Given the description of an element on the screen output the (x, y) to click on. 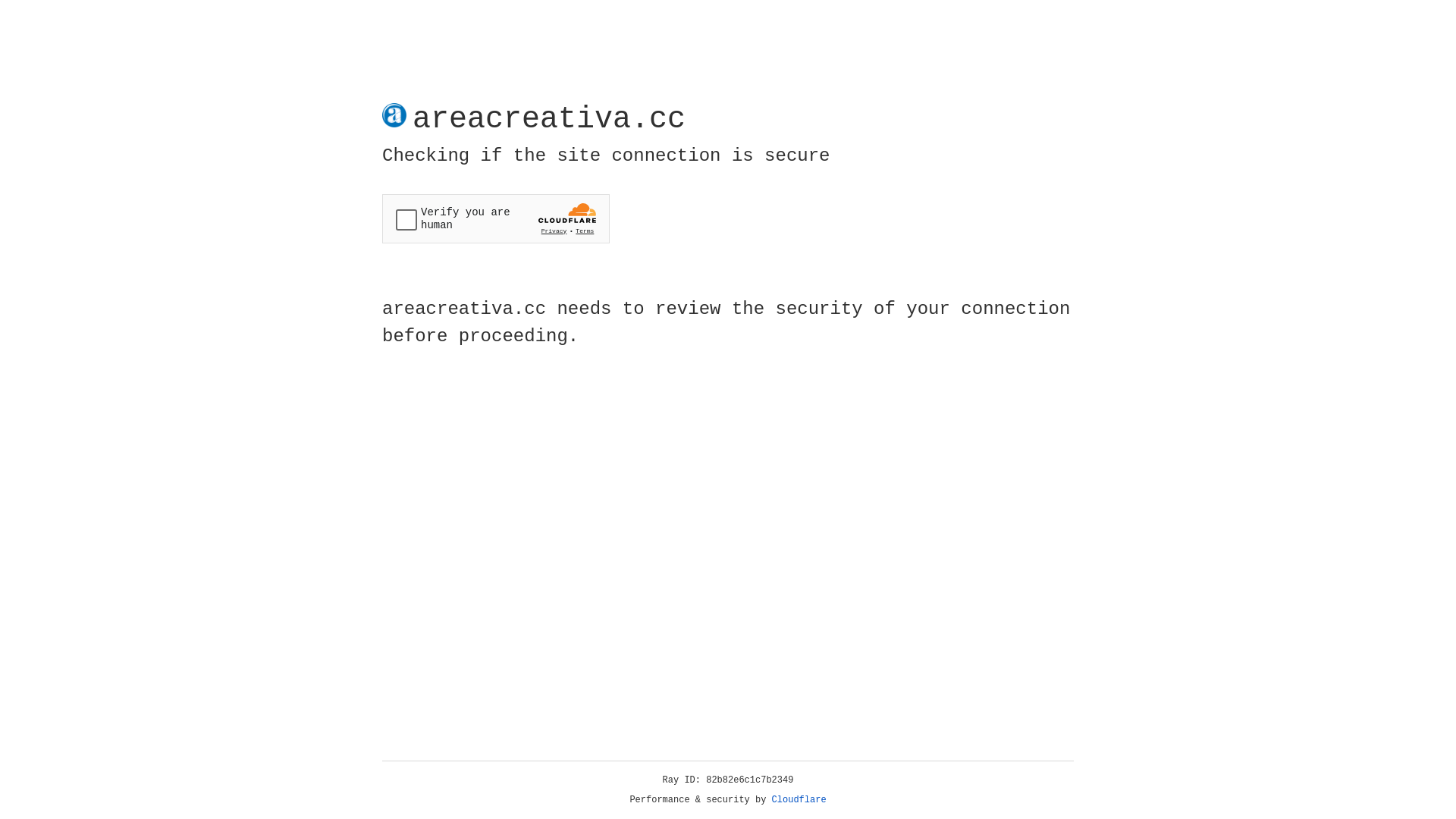
Cloudflare Element type: text (798, 799)
Widget containing a Cloudflare security challenge Element type: hover (495, 218)
